Given the description of an element on the screen output the (x, y) to click on. 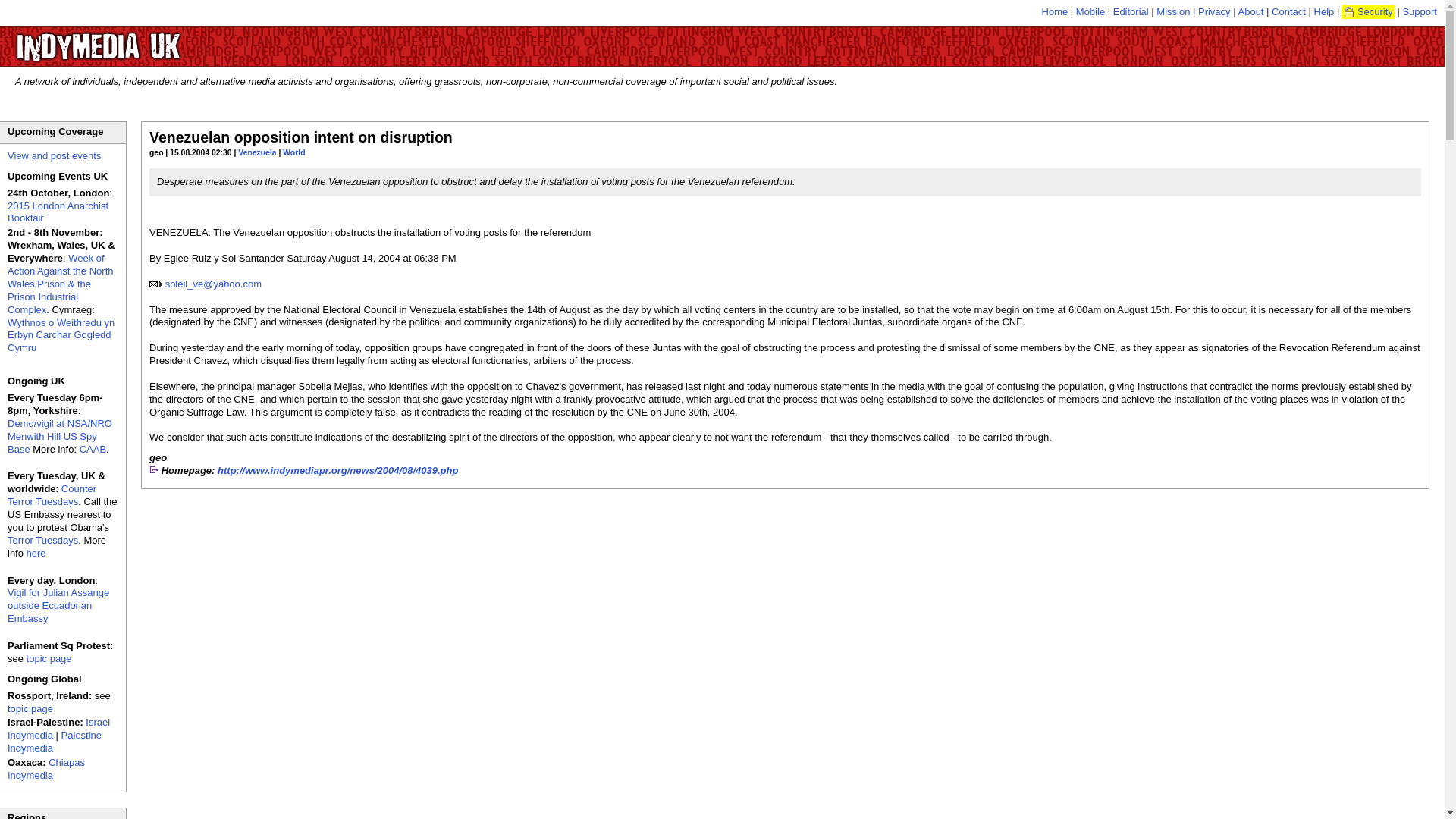
Privacy (1214, 11)
About (1250, 11)
Editorial (1130, 11)
World (293, 152)
2015 London Anarchist Bookfair (57, 211)
View and post events (53, 155)
Venezuelan opposition intent on disruption (300, 136)
Security (1368, 11)
UK Indymedia (144, 39)
Support (1419, 11)
